Given the description of an element on the screen output the (x, y) to click on. 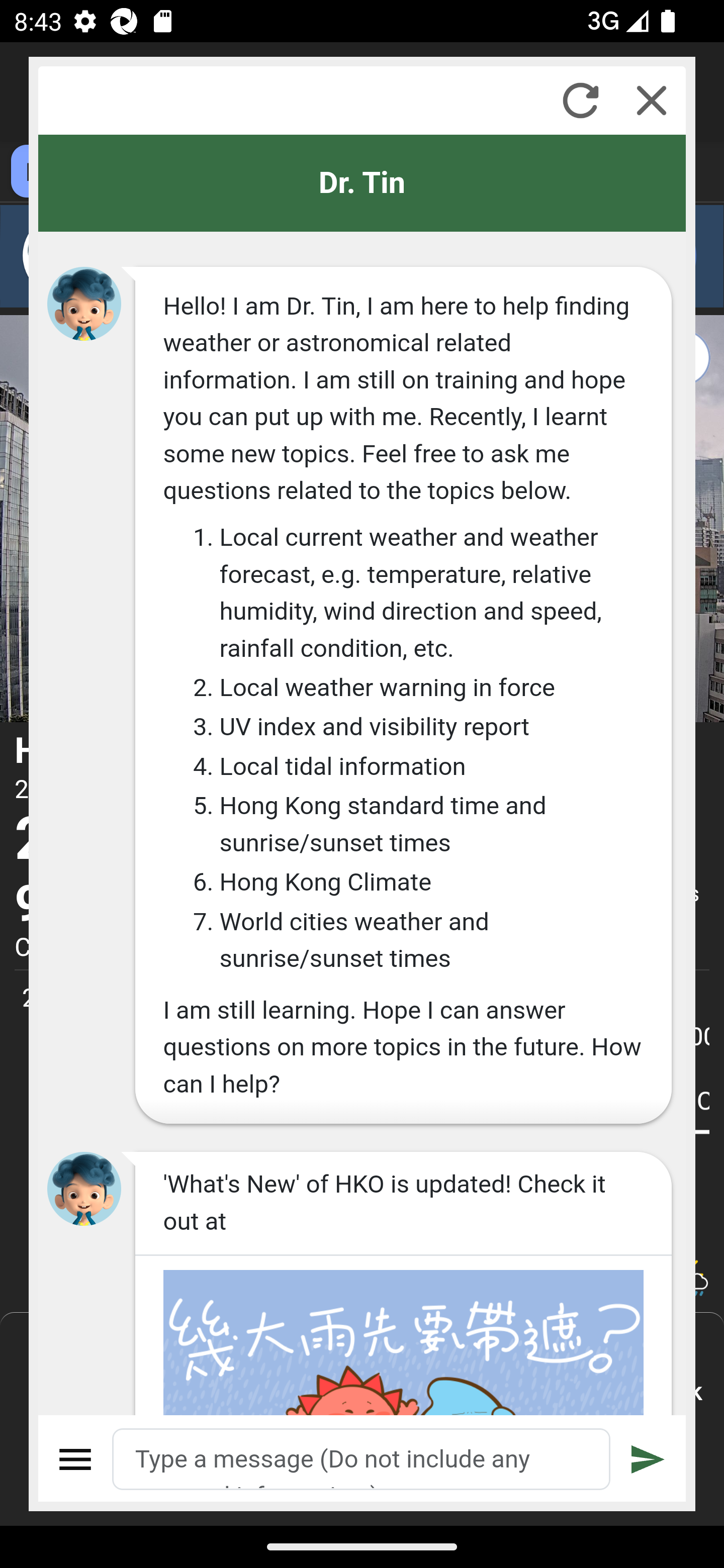
Refresh (580, 100)
Close (651, 100)
Menu (75, 1458)
Submit (648, 1458)
